Given the description of an element on the screen output the (x, y) to click on. 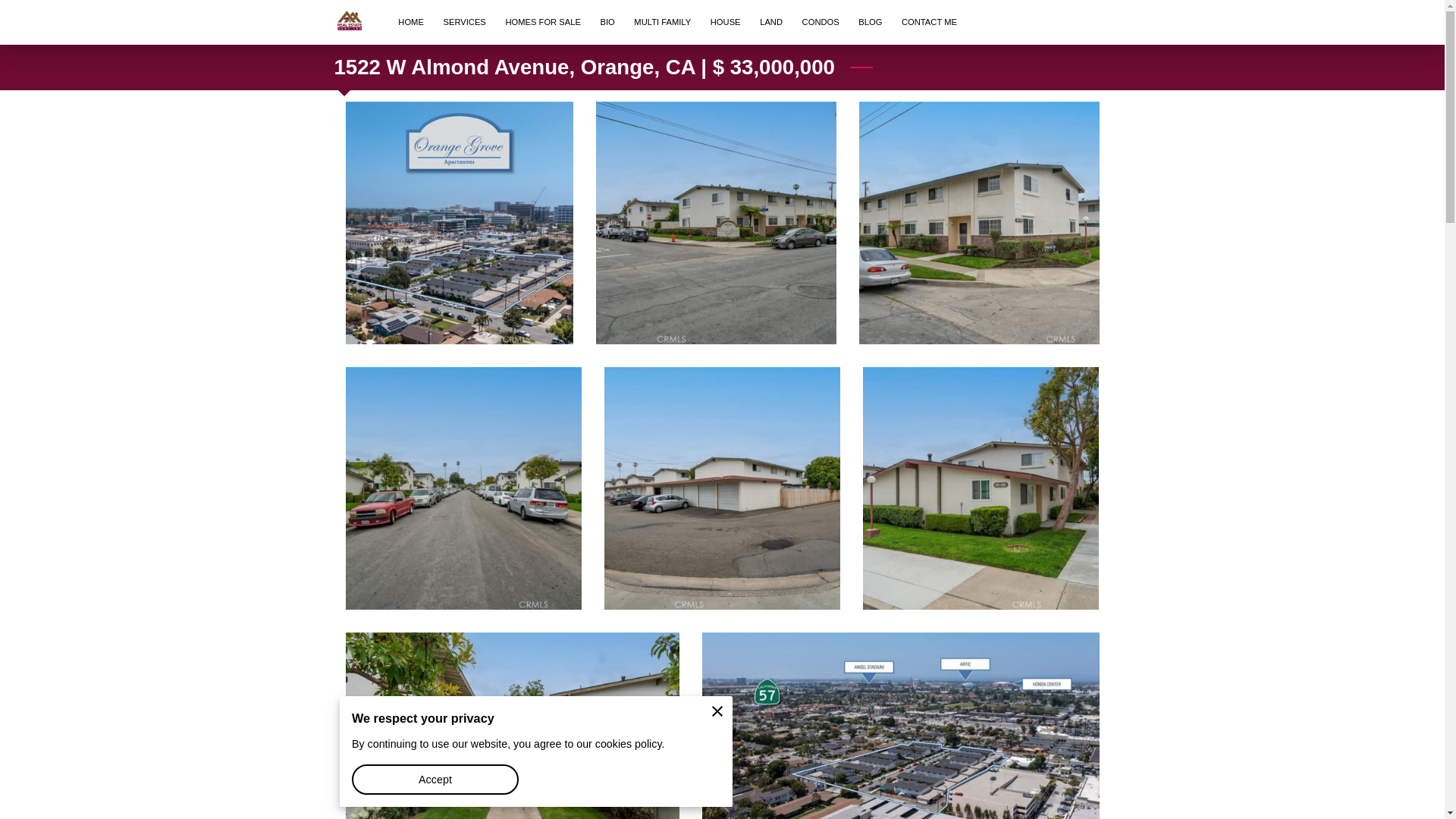
HOME (410, 22)
CONDOS (820, 22)
MULTI FAMILY (662, 22)
HOMES FOR SALE (543, 22)
BLOG (870, 22)
SERVICES (464, 22)
BIO (607, 22)
CONTACT ME (928, 22)
LAND (770, 22)
HOUSE (724, 22)
